Given the description of an element on the screen output the (x, y) to click on. 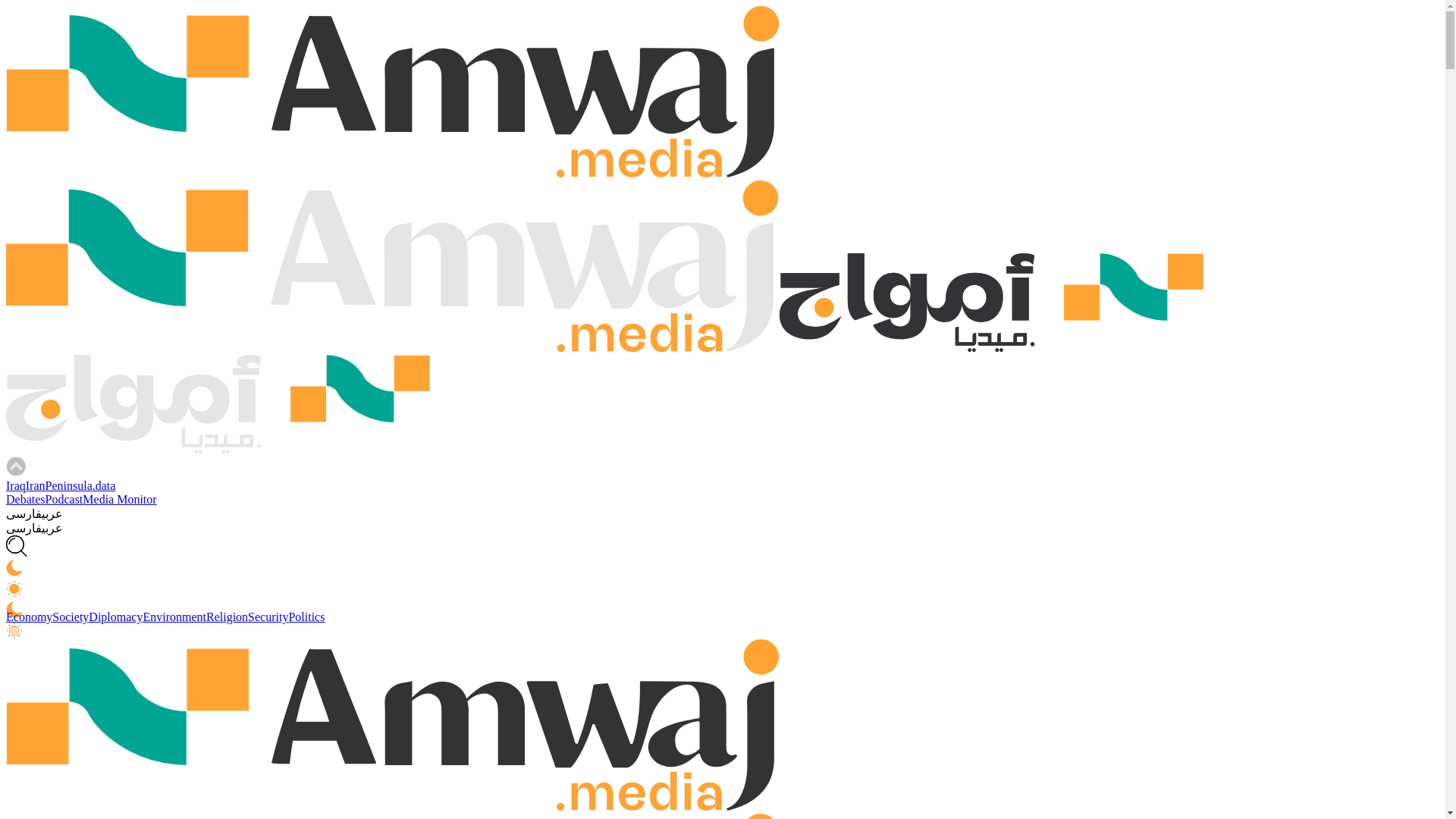
Iraq (15, 485)
.data (104, 485)
Religion (226, 616)
Debates (25, 499)
Media Monitor (118, 499)
Iran (35, 485)
Society (70, 616)
on (13, 631)
Environment (174, 616)
Politics (306, 616)
Economy (28, 616)
Peninsula (69, 485)
Security (267, 616)
Diplomacy (115, 616)
Podcast (63, 499)
